Given the description of an element on the screen output the (x, y) to click on. 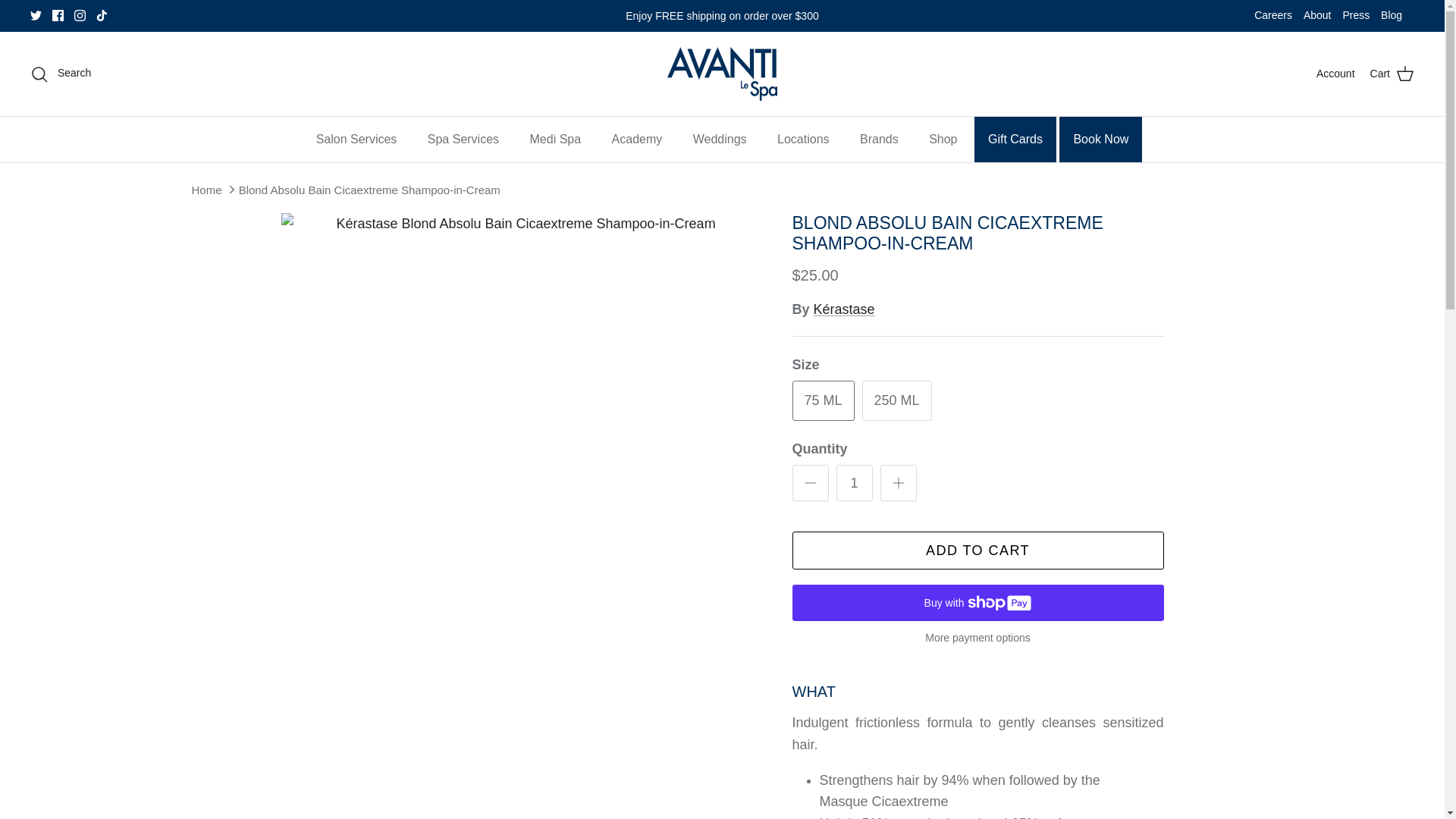
Twitter (36, 15)
Avanti Le Spa (721, 73)
Twitter (36, 15)
Account (1335, 73)
Press (1356, 15)
Plus (897, 483)
Salon Services (356, 139)
About (1317, 15)
Minus (809, 483)
Instagram (79, 15)
Facebook (58, 15)
Instagram (79, 15)
Facebook (58, 15)
Cart (1391, 73)
Blog (1391, 15)
